Given the description of an element on the screen output the (x, y) to click on. 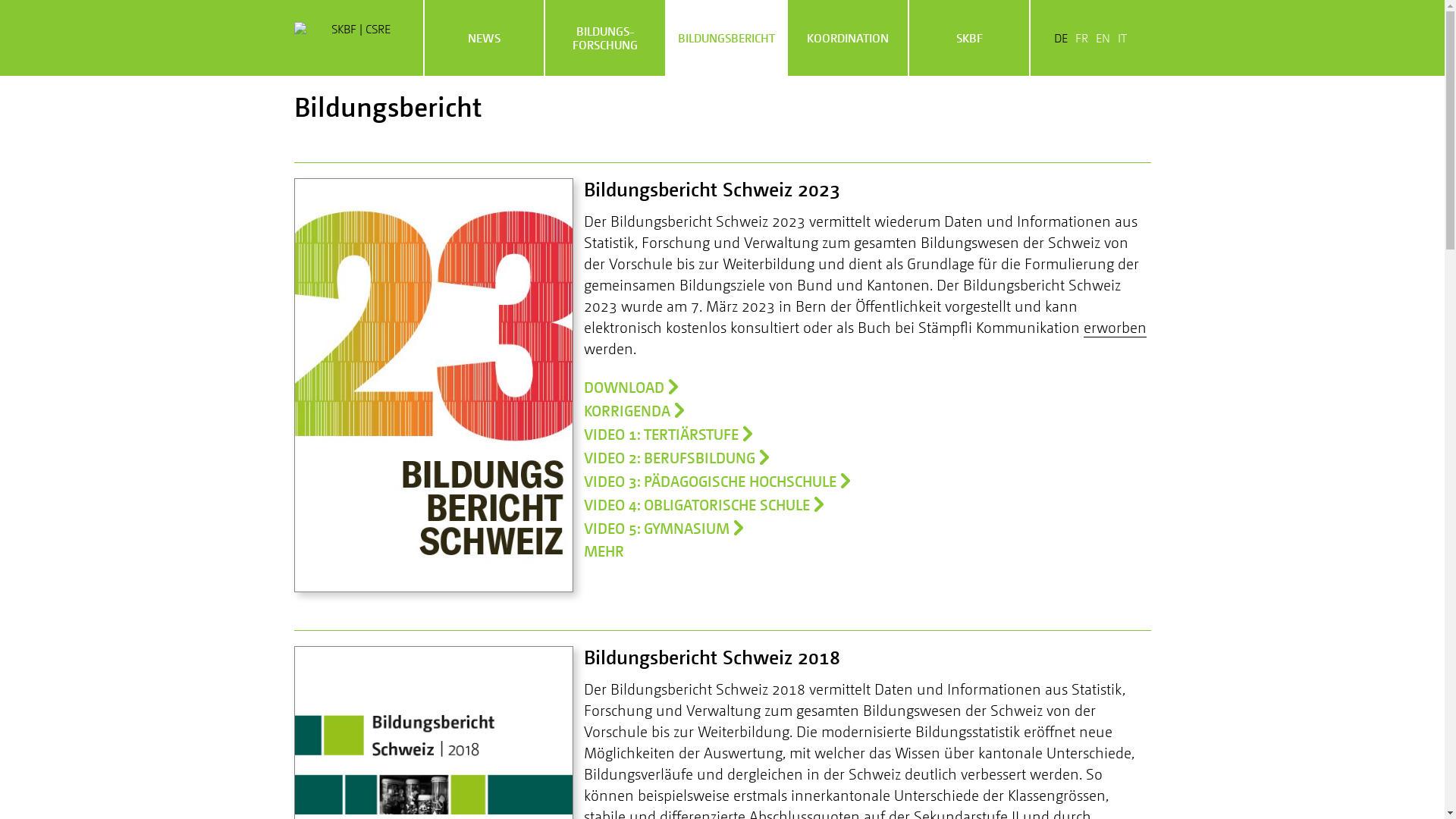
NEWS Element type: text (484, 37)
MEHR Element type: text (613, 550)
erworben Element type: text (1113, 327)
VIDEO 2: BERUFSBILDUNG Element type: text (675, 456)
EN Element type: text (1102, 37)
FR Element type: text (1081, 37)
KOORDINATION Element type: text (847, 37)
VIDEO 5: GYMNASIUM Element type: text (663, 527)
KORRIGENDA Element type: text (633, 409)
IT Element type: text (1121, 37)
VIDEO 4: OBLIGATORISCHE SCHULE Element type: text (703, 503)
DE Element type: text (1060, 37)
DOWNLOAD Element type: text (630, 386)
SKBF Element type: text (969, 37)
